Given the description of an element on the screen output the (x, y) to click on. 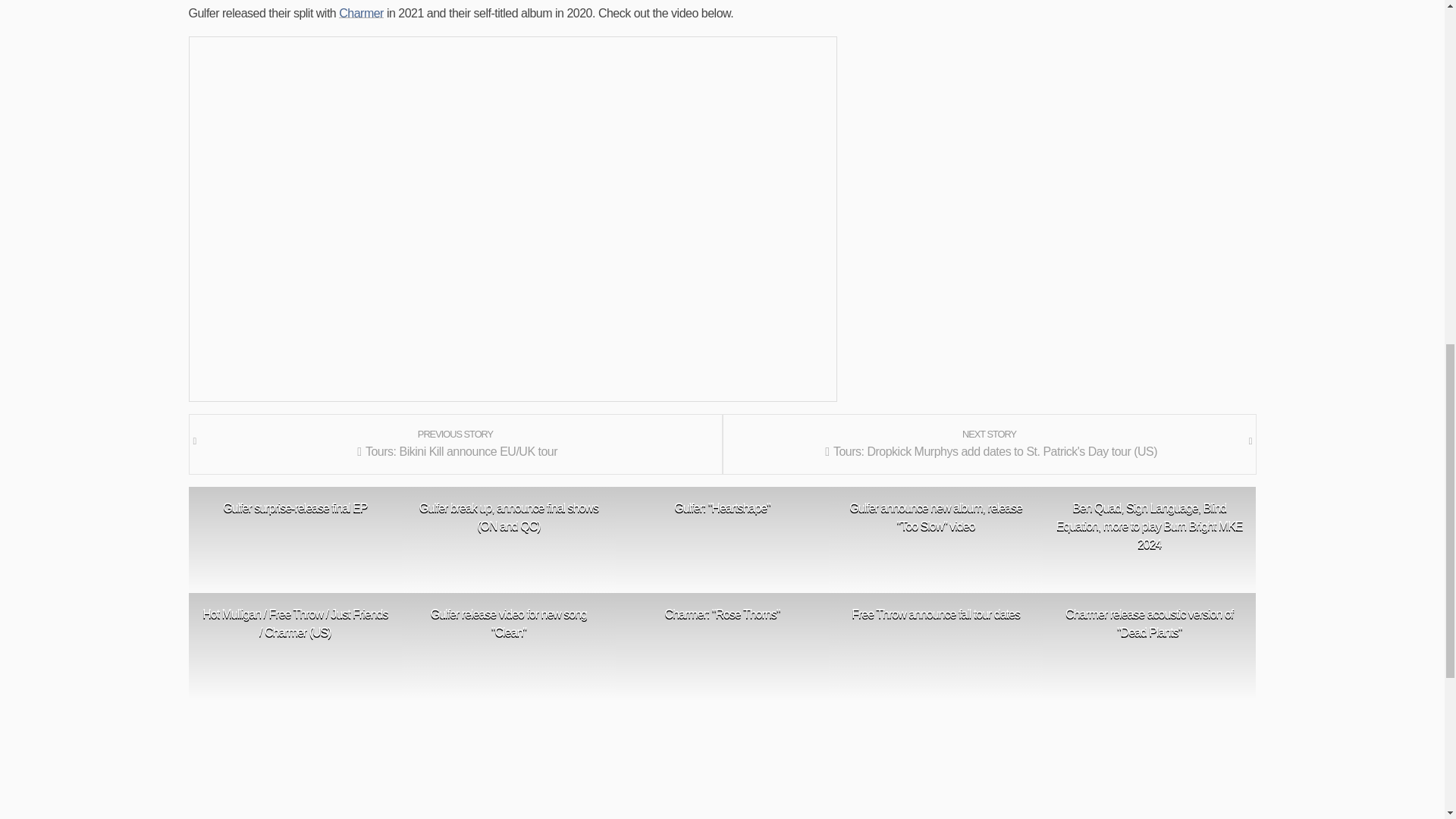
Free Throw announce fall tour dates (935, 614)
Charmer release acoustic version of "Dead Plants" (1149, 623)
Charmer: "Rose Thorns" (721, 614)
Charmer (361, 12)
Gulfer announce new album, release "Too Slow" video (935, 516)
Gulfer surprise-release final EP (295, 507)
Gulfer: "Heartshape" (721, 507)
Gulfer release video for new song "Clean" (508, 623)
